Given the description of an element on the screen output the (x, y) to click on. 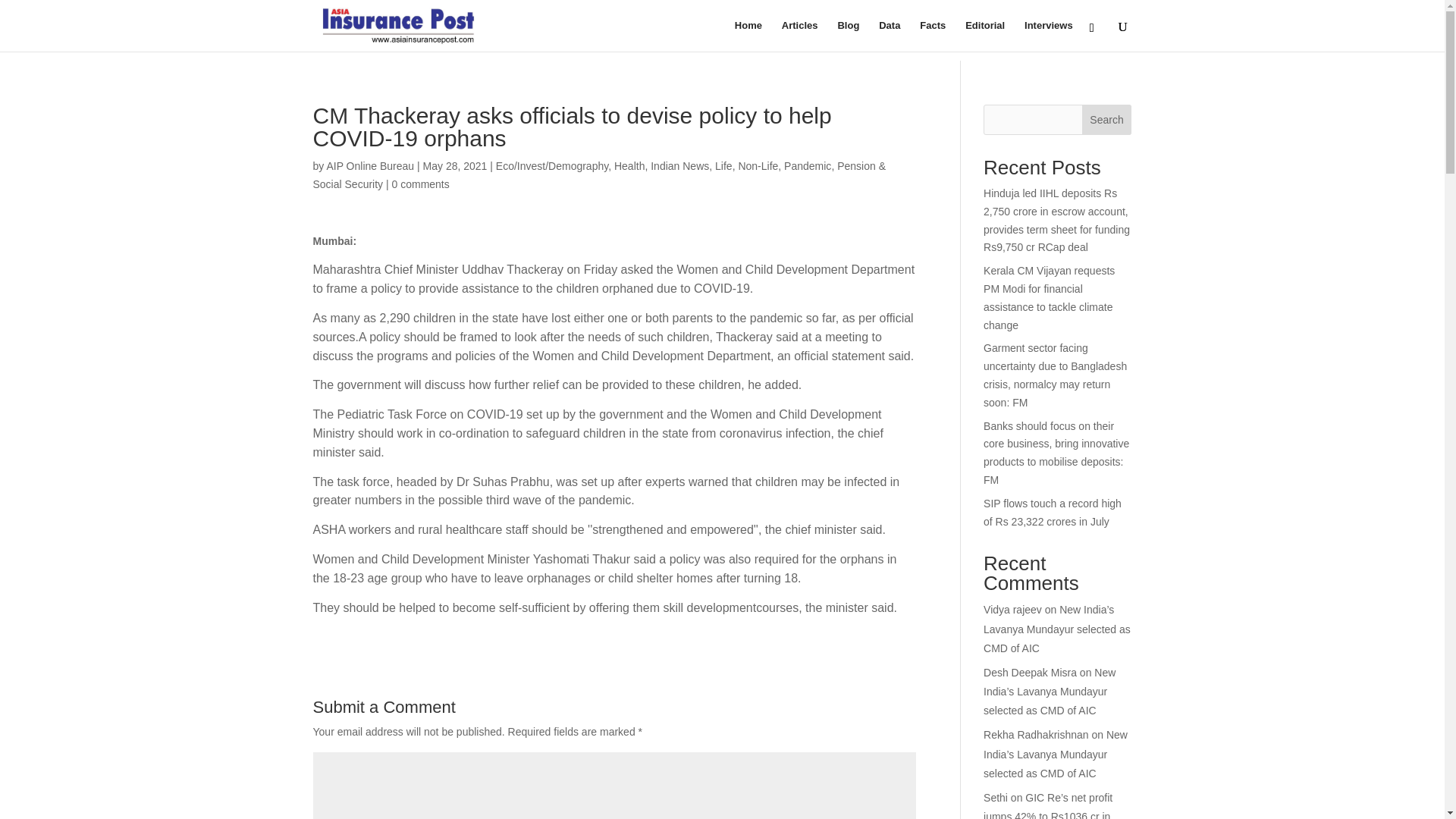
Interviews (1049, 35)
0 comments (420, 184)
SIP flows touch a record high of Rs 23,322 crores in July (1052, 512)
Non-Life (757, 165)
Pandemic (807, 165)
Life (723, 165)
Indian News (679, 165)
Posts by AIP Online Bureau (369, 165)
